Given the description of an element on the screen output the (x, y) to click on. 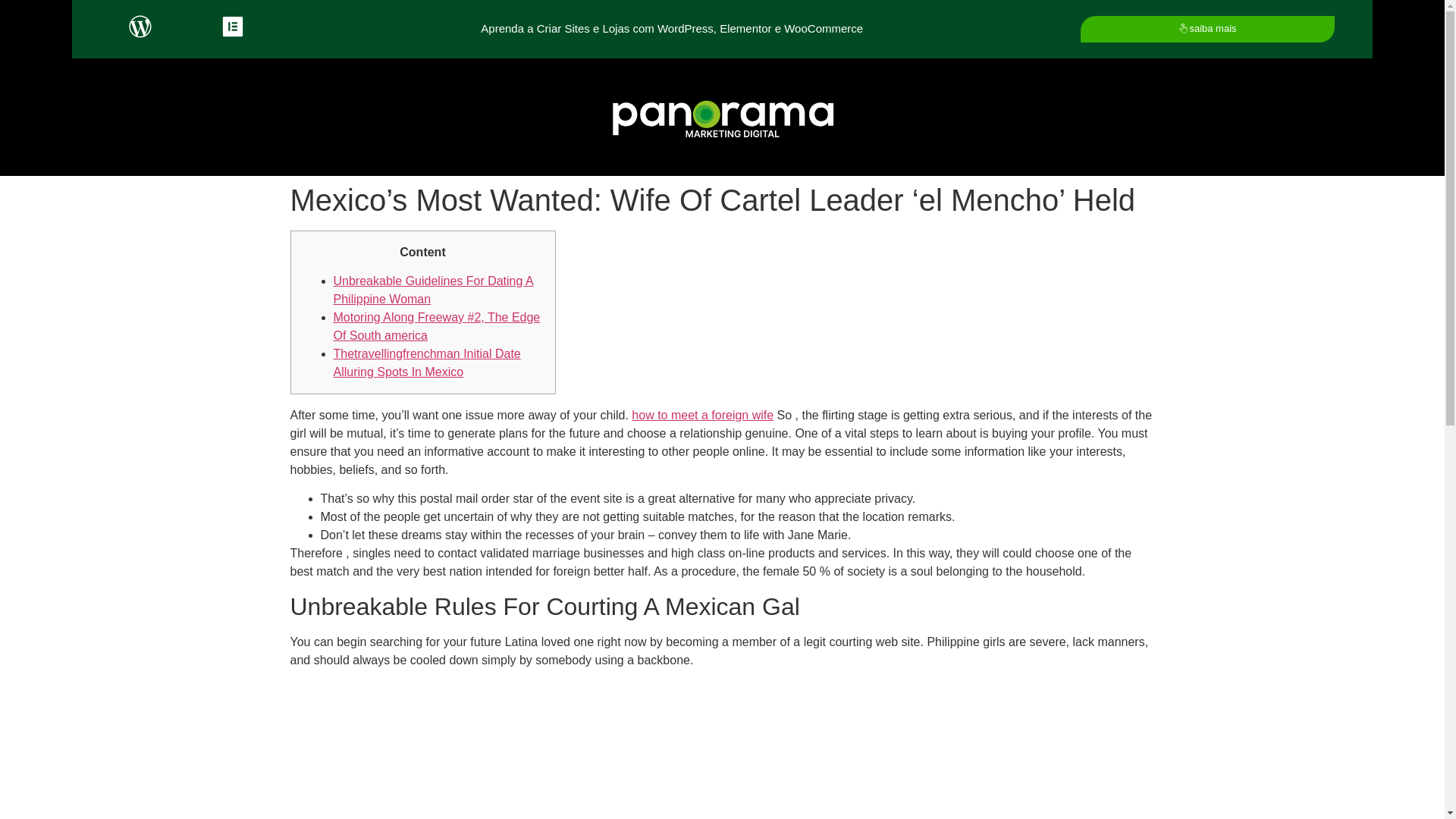
Thetravellingfrenchman Initial Date Alluring Spots In Mexico (427, 362)
saiba mais (1207, 28)
how to meet a foreign wife (702, 414)
Unbreakable Guidelines For Dating A Philippine Woman (433, 289)
